Given the description of an element on the screen output the (x, y) to click on. 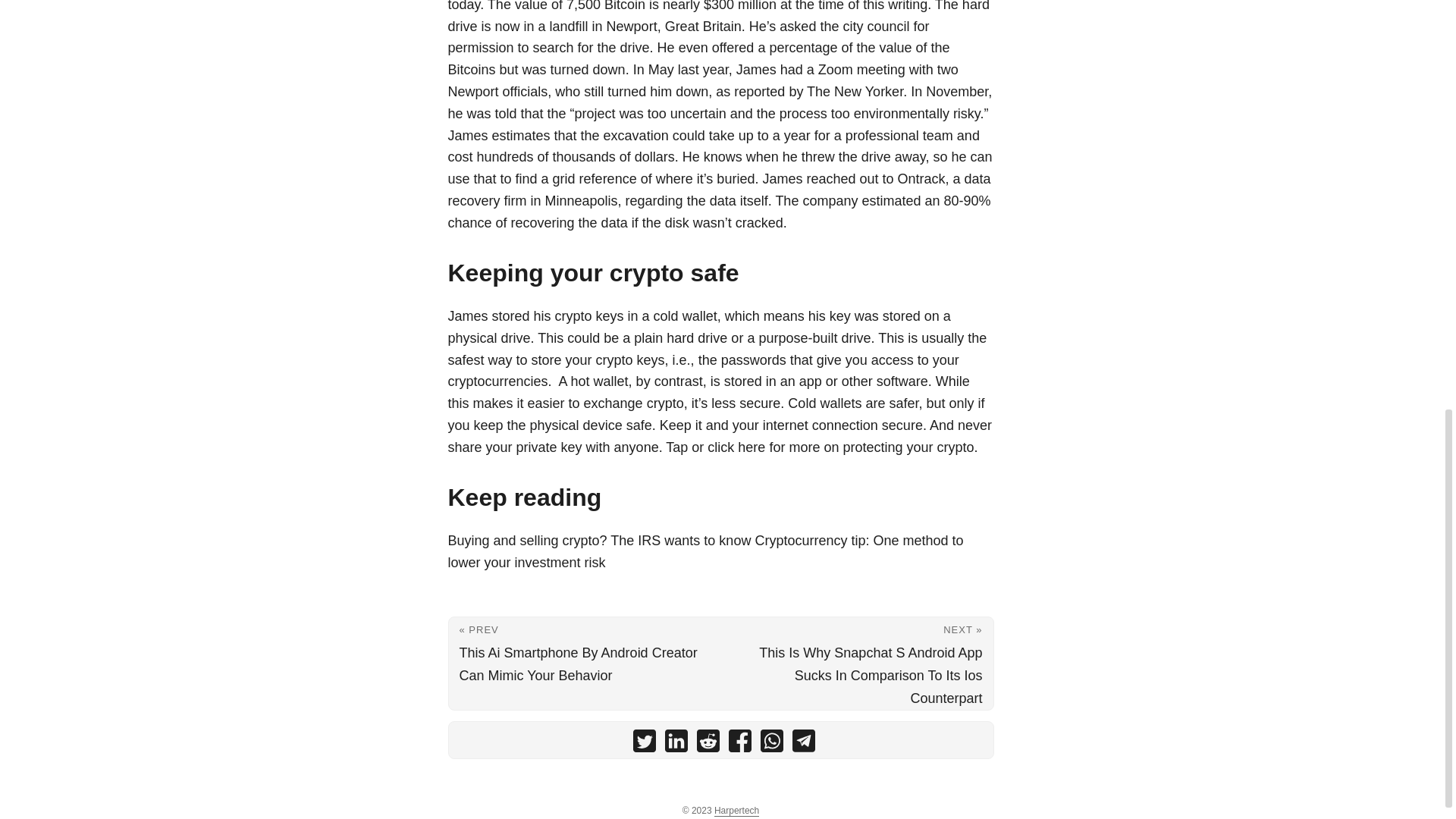
Harpertech (736, 810)
